Given the description of an element on the screen output the (x, y) to click on. 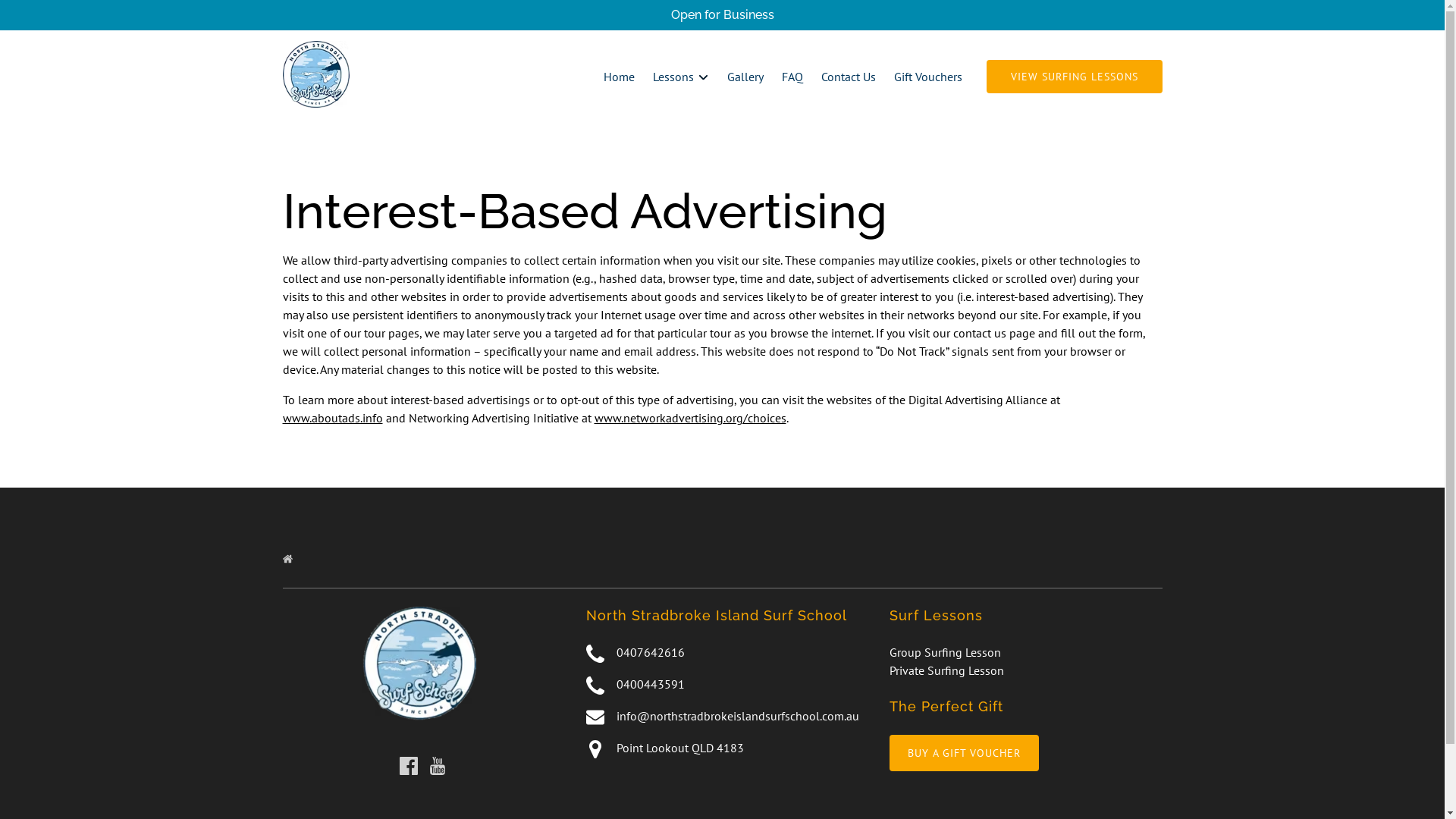
Skip to footer Element type: text (42, 16)
17098197_975231049276522_8006630246832151695_n Element type: hover (419, 663)
Gift Vouchers Element type: text (927, 76)
Click here to visit our Youtube Element type: hover (436, 765)
www.aboutads.info Element type: text (332, 417)
Group Surfing Lesson Element type: text (944, 651)
Contact Us Element type: text (847, 76)
Map Marker
Point Lookout QLD 4183 Element type: text (721, 748)
Skip to content Element type: text (46, 16)
www.networkadvertising.org/choices Element type: text (690, 417)
VIEW SURFING LESSONS Element type: text (1073, 76)
Open for Business Element type: text (722, 15)
Envelope
info@northstradbrokeislandsurfschool.com.au Element type: text (721, 716)
FAQ Element type: text (791, 76)
BUY A GIFT VOUCHER Element type: text (963, 743)
Home Element type: text (618, 76)
Gallery Element type: text (744, 76)
Phone
0407642616 Element type: text (721, 652)
Private Surfing Lesson Element type: text (945, 669)
Phone
0400443591 Element type: text (721, 684)
Lessons Element type: text (680, 76)
Skip to primary navigation Element type: text (75, 16)
Click here to visit our Facebook Element type: hover (407, 765)
